Given the description of an element on the screen output the (x, y) to click on. 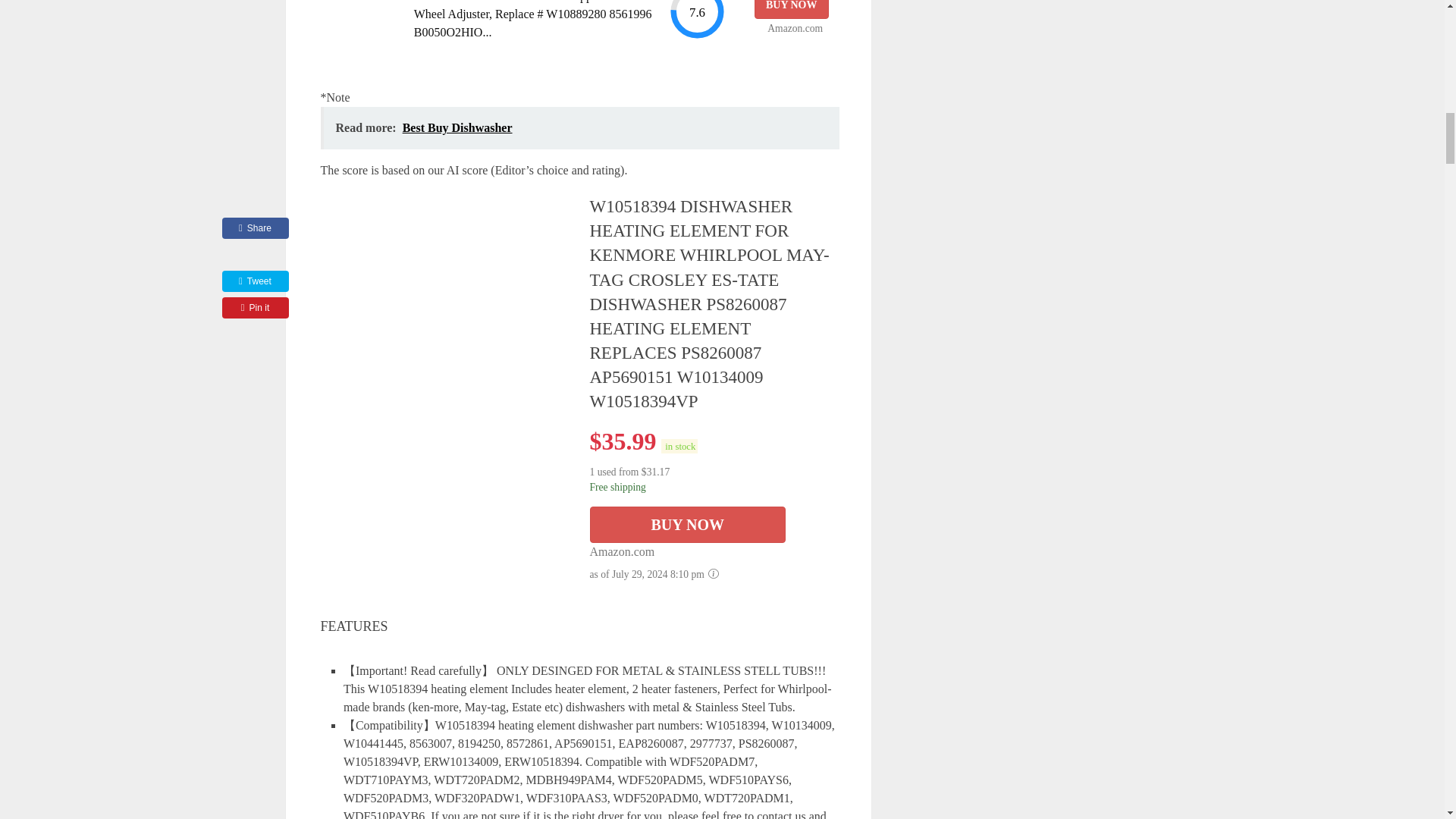
Last updated on July 29, 2024 8:10 pm (679, 445)
7.6 (696, 20)
